Given the description of an element on the screen output the (x, y) to click on. 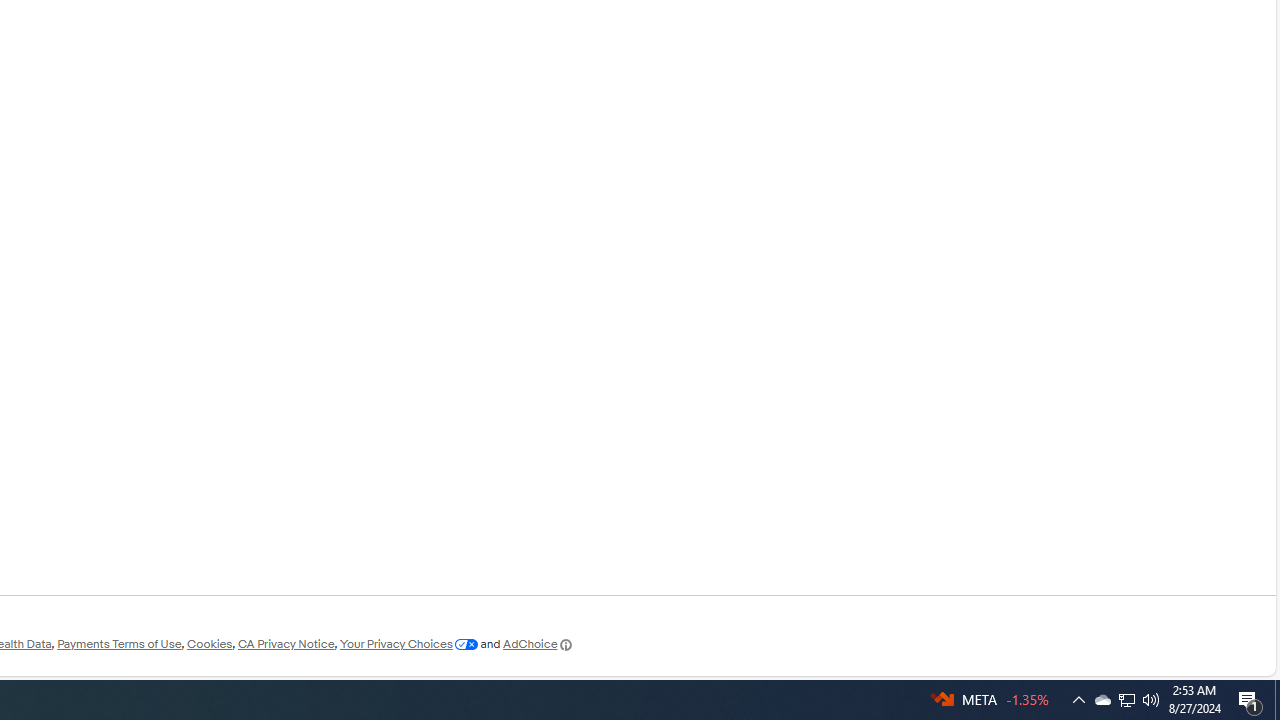
Payments Terms of Use (119, 644)
AdChoice (538, 644)
CA Privacy Notice (285, 644)
Cookies (209, 644)
Your Privacy Choices (408, 644)
